Given the description of an element on the screen output the (x, y) to click on. 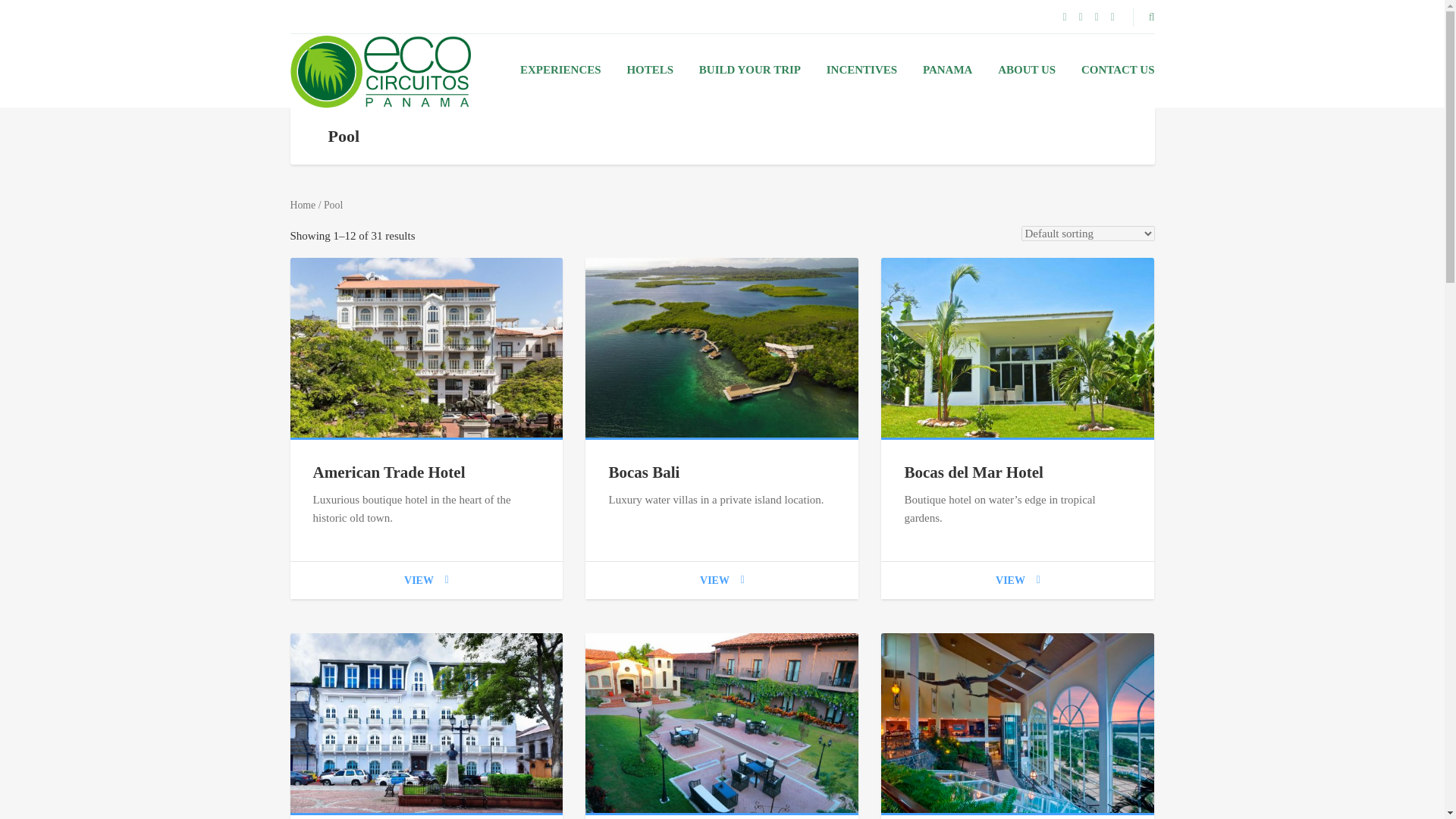
CONTACT US (1117, 69)
PANAMA (947, 69)
HOTELS (649, 69)
BUILD YOUR TRIP (749, 69)
INCENTIVES (861, 69)
Home (302, 205)
ABOUT US (1026, 69)
EXPERIENCES (560, 69)
